Given the description of an element on the screen output the (x, y) to click on. 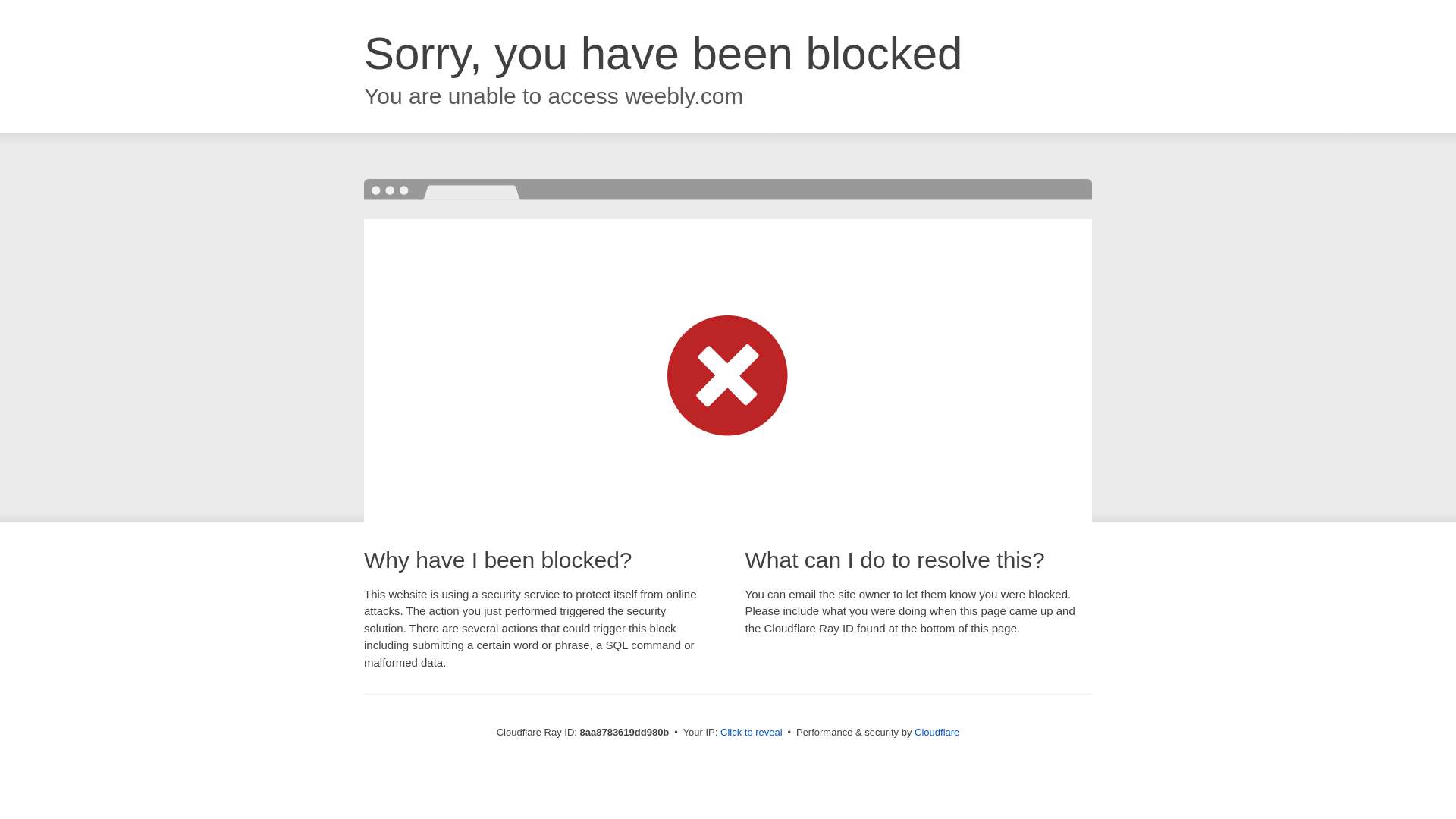
Click to reveal (751, 732)
Cloudflare (936, 731)
